Given the description of an element on the screen output the (x, y) to click on. 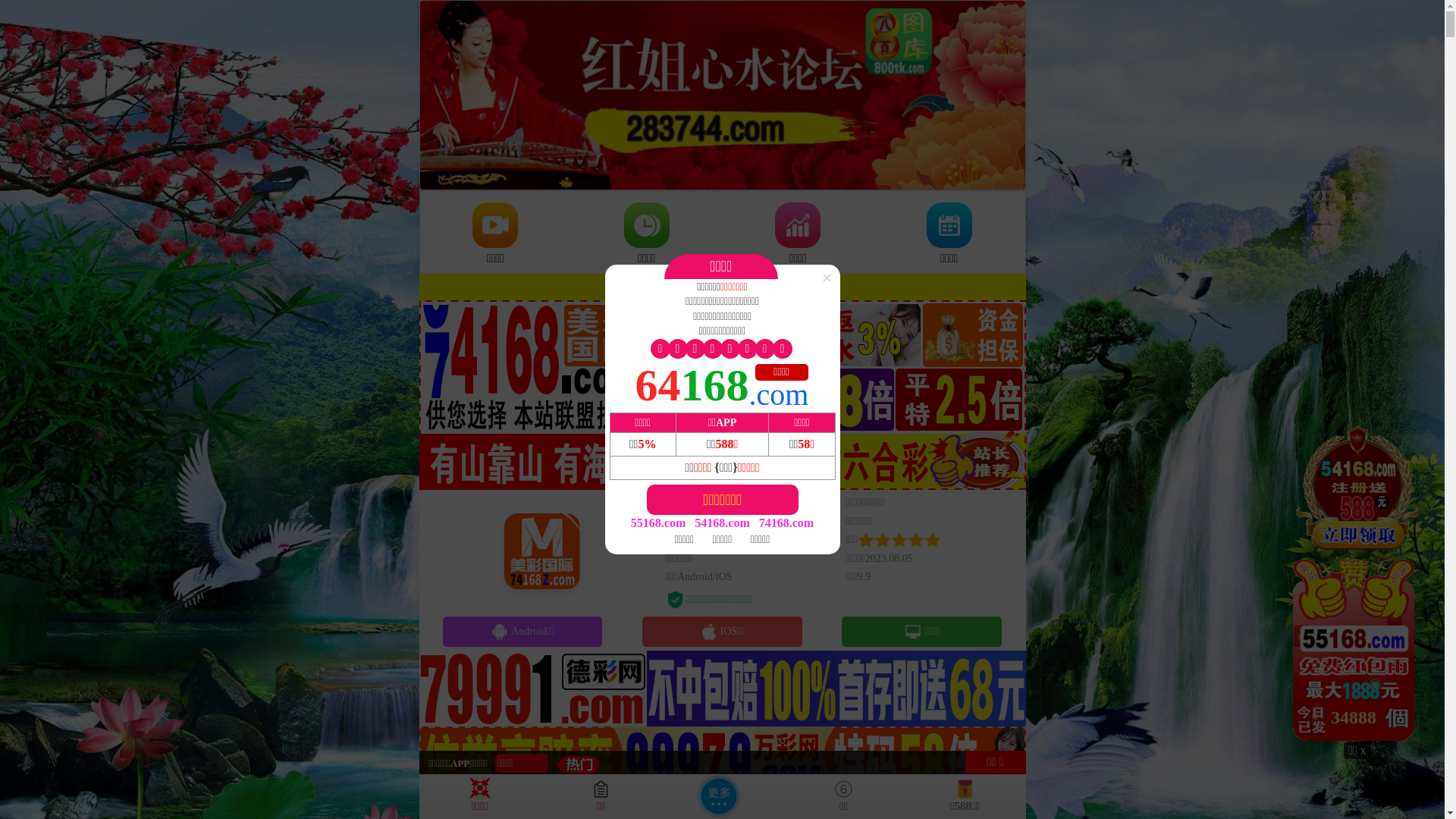
35141 Element type: text (1356, 582)
